Given the description of an element on the screen output the (x, y) to click on. 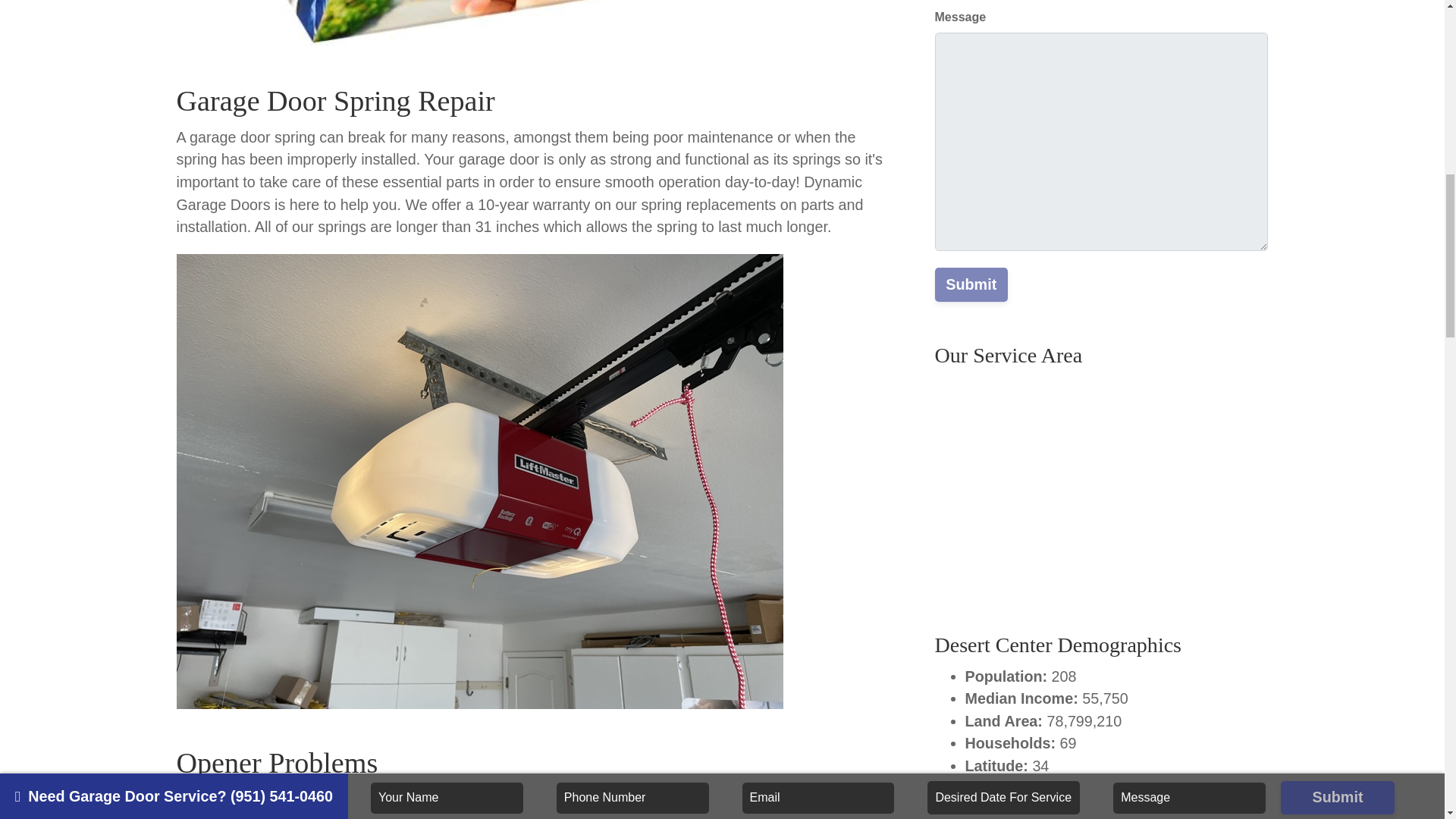
Submit (970, 284)
Submit (970, 284)
